Given the description of an element on the screen output the (x, y) to click on. 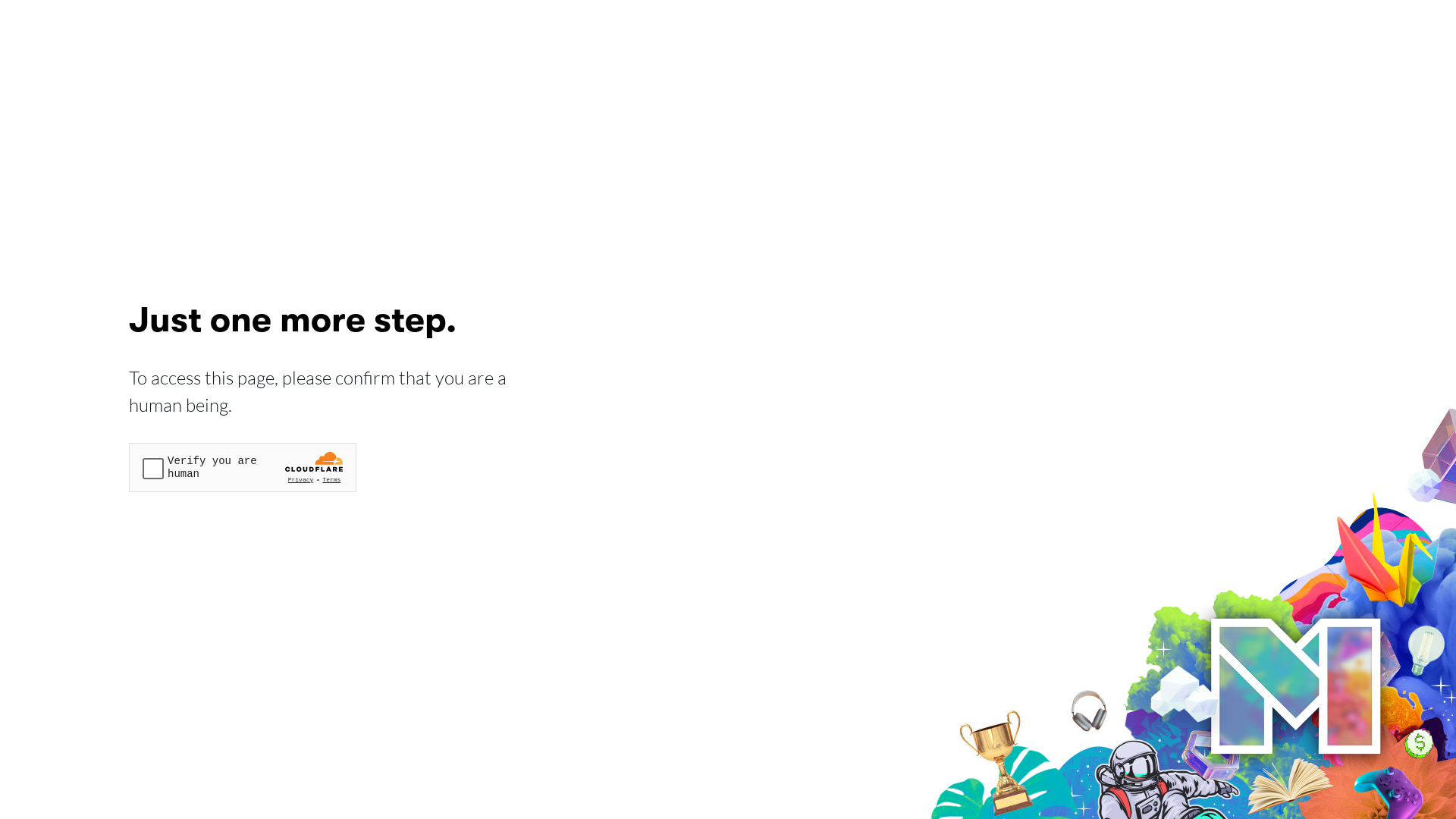
Widget containing a Cloudflare security challenge Element type: hover (242, 467)
